Given the description of an element on the screen output the (x, y) to click on. 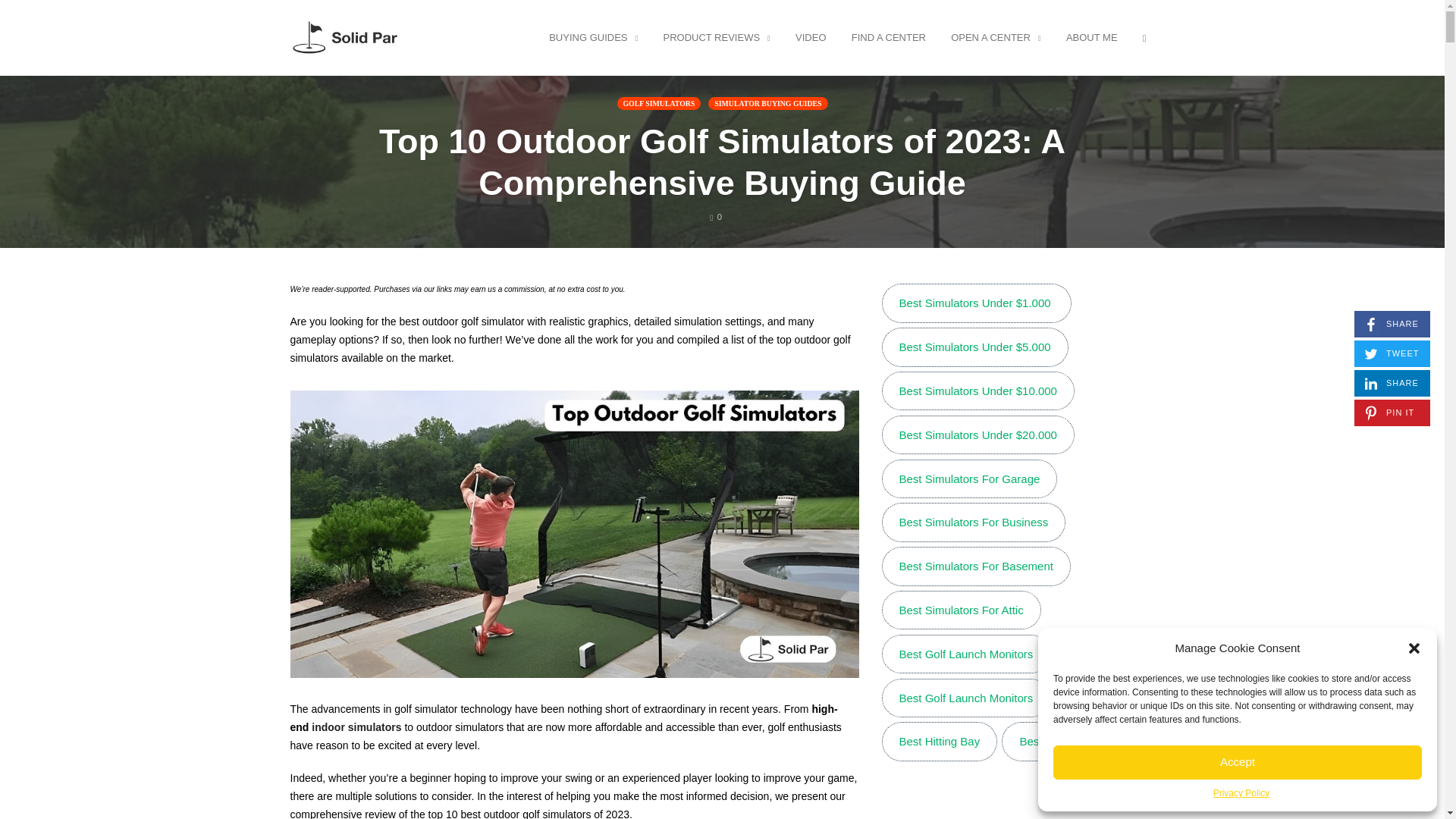
VIDEO (810, 37)
GOLF SIMULATORS (659, 103)
Accept (1391, 383)
ABOUT ME (1237, 762)
Privacy Policy (1091, 37)
SIMULATOR BUYING GUIDES (1240, 793)
PRODUCT REVIEWS (767, 103)
OPEN SEARCH FORM (715, 37)
Solid Par (1391, 324)
FIND A CENTER (1144, 37)
BUYING GUIDES (716, 216)
